Given the description of an element on the screen output the (x, y) to click on. 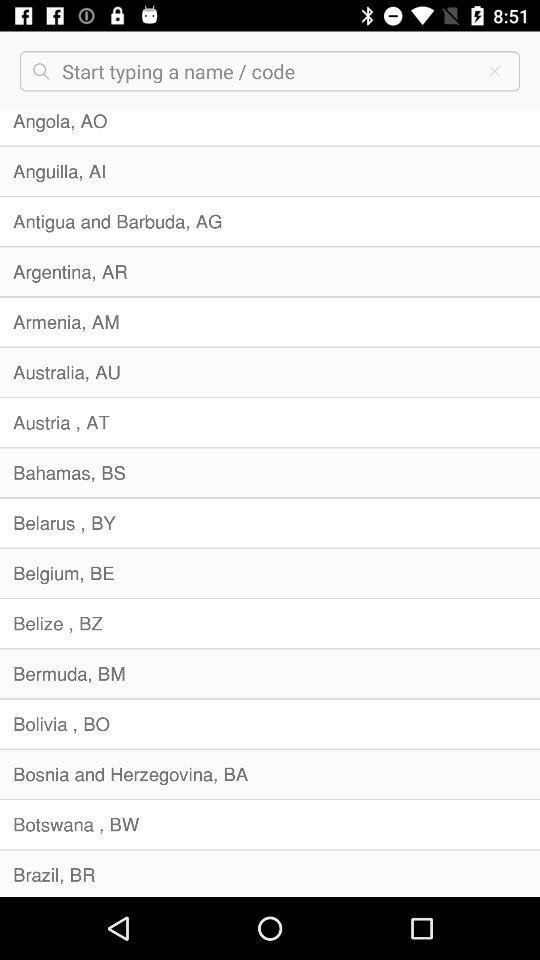
open the item above angola, ao (494, 71)
